Given the description of an element on the screen output the (x, y) to click on. 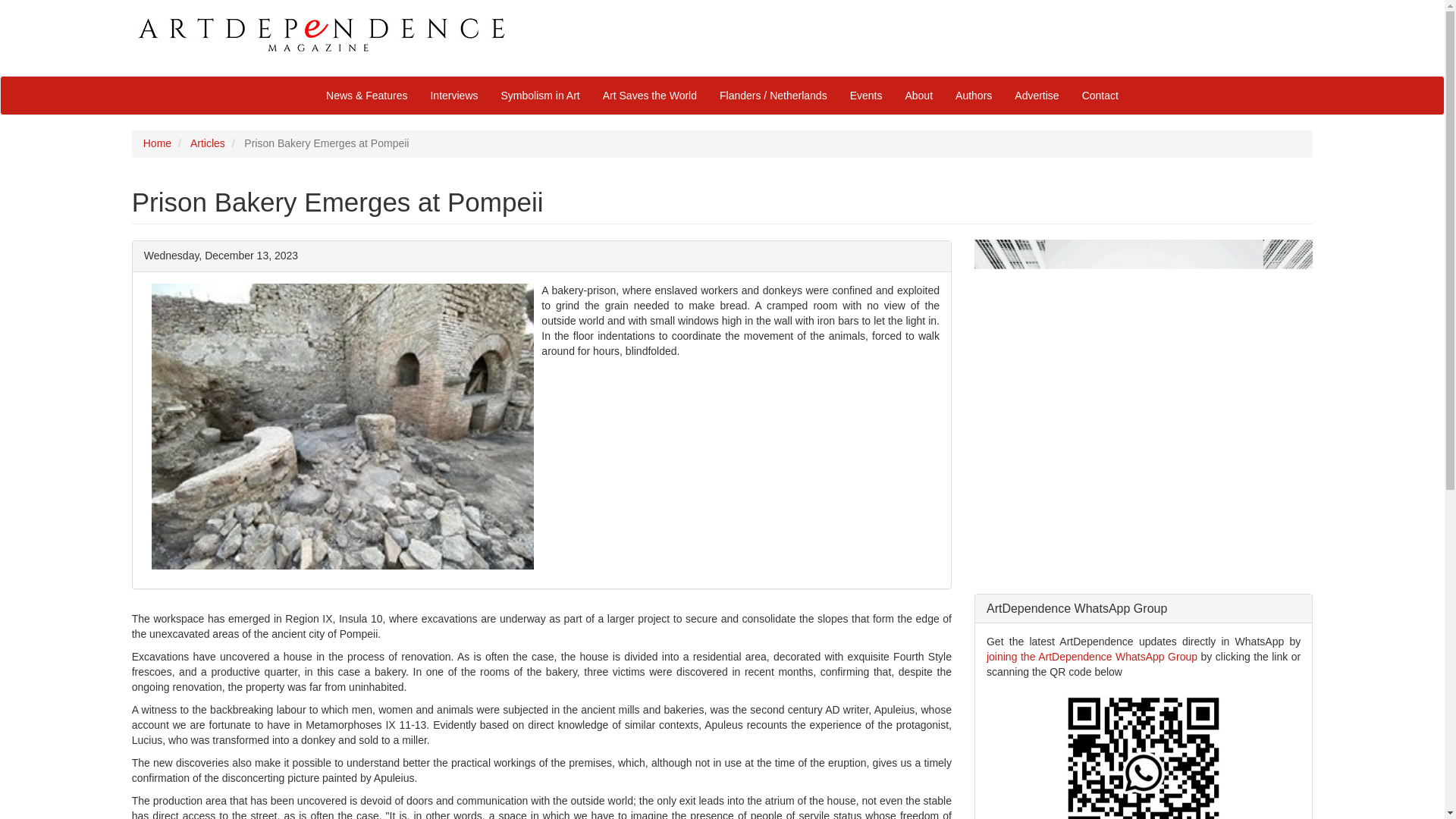
Articles (207, 143)
Symbolism in Art (540, 95)
Authors (973, 95)
Advertise (1036, 95)
About (918, 95)
Events (865, 95)
Art Saves the World (649, 95)
joining the ArtDependence WhatsApp Group (1091, 656)
Interviews (454, 95)
WhatsApp (1091, 656)
Home (156, 143)
Contact (1099, 95)
